Given the description of an element on the screen output the (x, y) to click on. 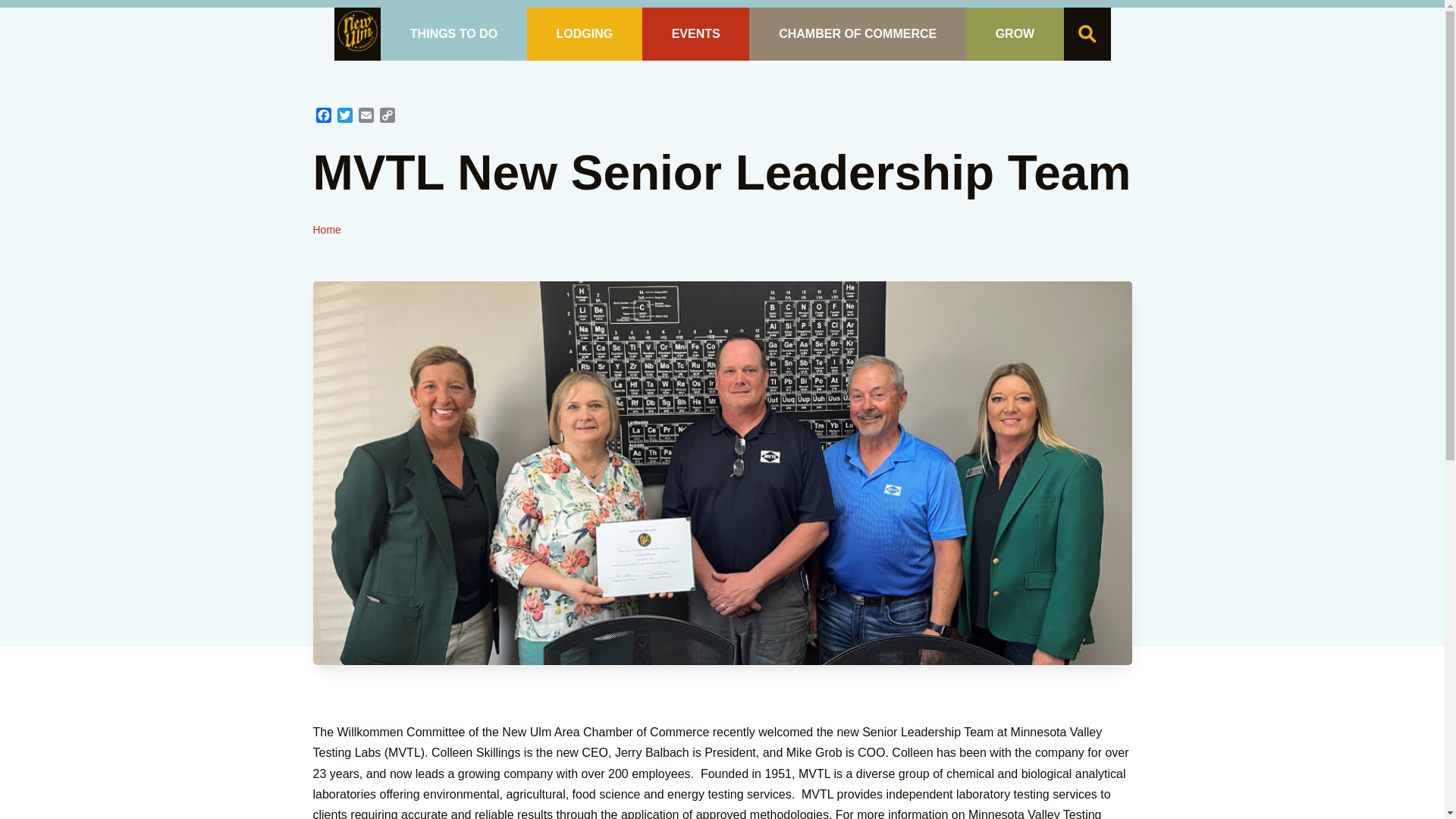
CHAMBER OF COMMERCE (857, 33)
Copy Link (386, 116)
Facebook (323, 116)
Copy Link (386, 116)
Twitter (344, 116)
GROW (1015, 33)
Email (365, 116)
Twitter (344, 116)
EVENTS (695, 33)
Facebook (323, 116)
